Given the description of an element on the screen output the (x, y) to click on. 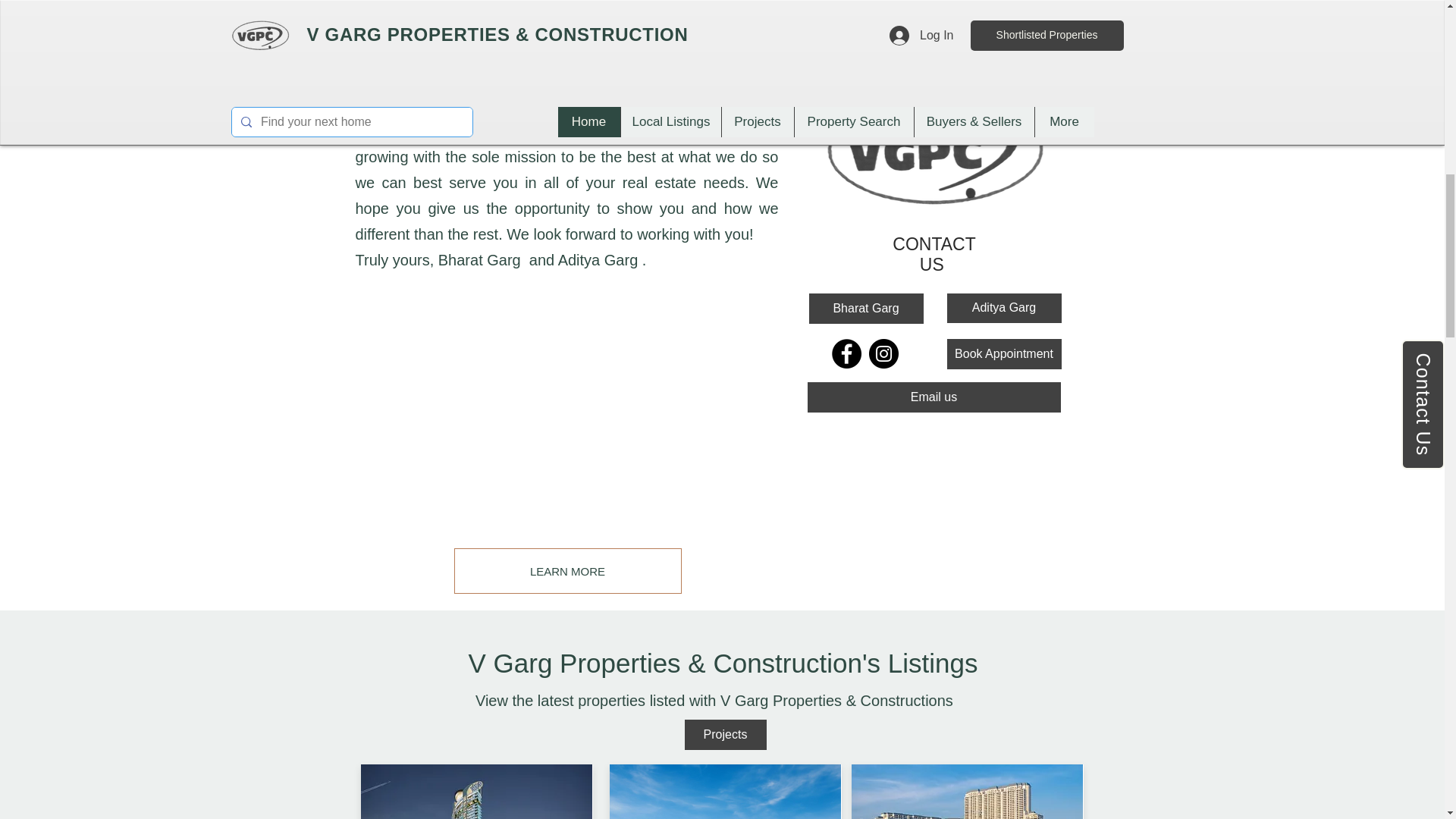
Book Appointment (1003, 354)
LEARN MORE (566, 570)
Bharat Garg (865, 308)
Projects (724, 734)
Email us (932, 397)
Aditya Garg (1003, 307)
